Given the description of an element on the screen output the (x, y) to click on. 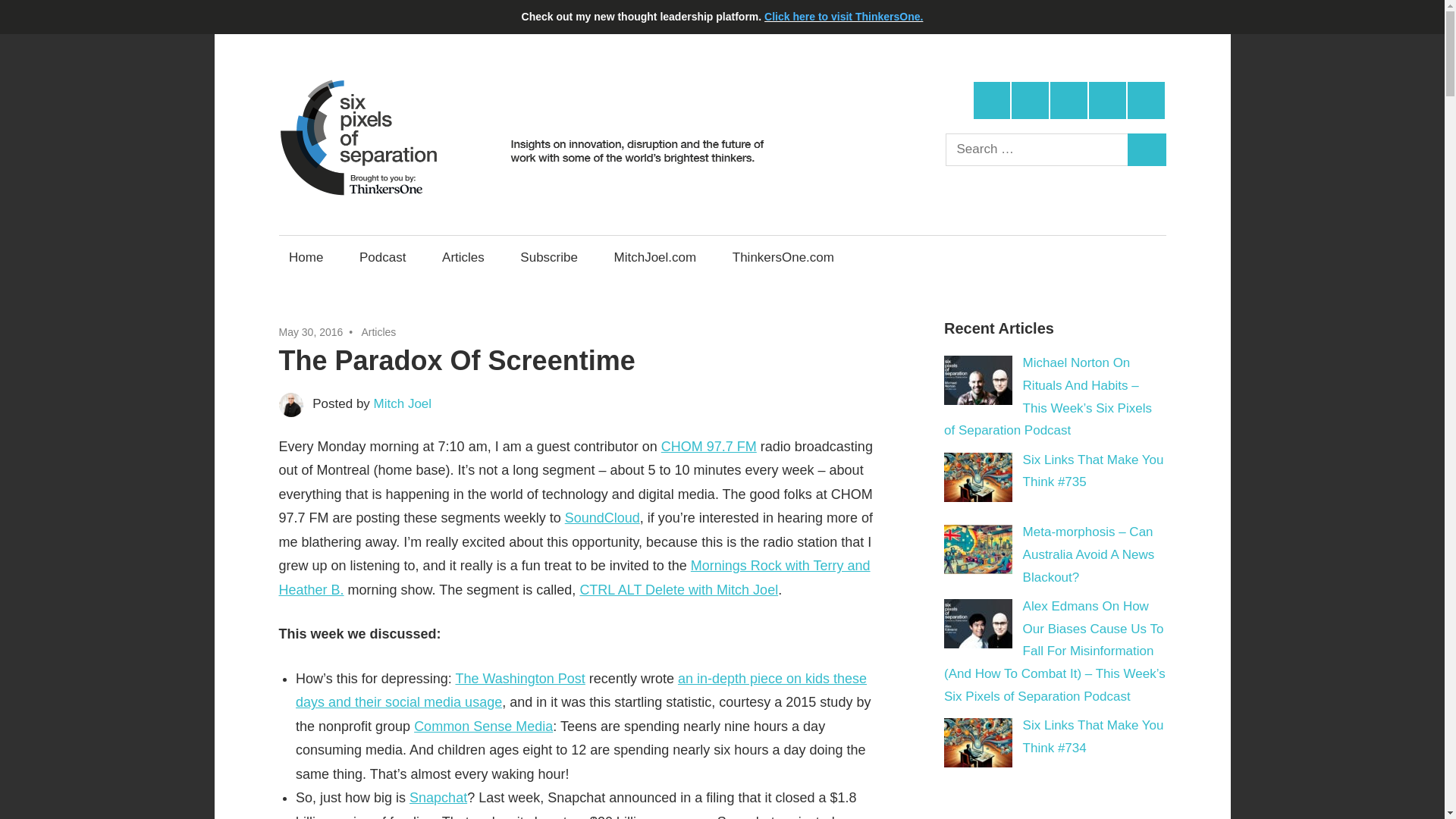
CHOM 97.7 FM (709, 446)
Mornings Rock with Terry and Heather B. (574, 577)
Facebook (1029, 99)
Common Sense Media (483, 726)
Twitter (992, 99)
LinkedIn (1068, 99)
8:14 am (311, 331)
The Washington Post (519, 678)
Twitter (992, 99)
ThinkersOne.com (783, 257)
MitchJoel.com (655, 257)
Instagram (1107, 99)
Instagram (1107, 99)
LinkedIn (1068, 99)
